Given the description of an element on the screen output the (x, y) to click on. 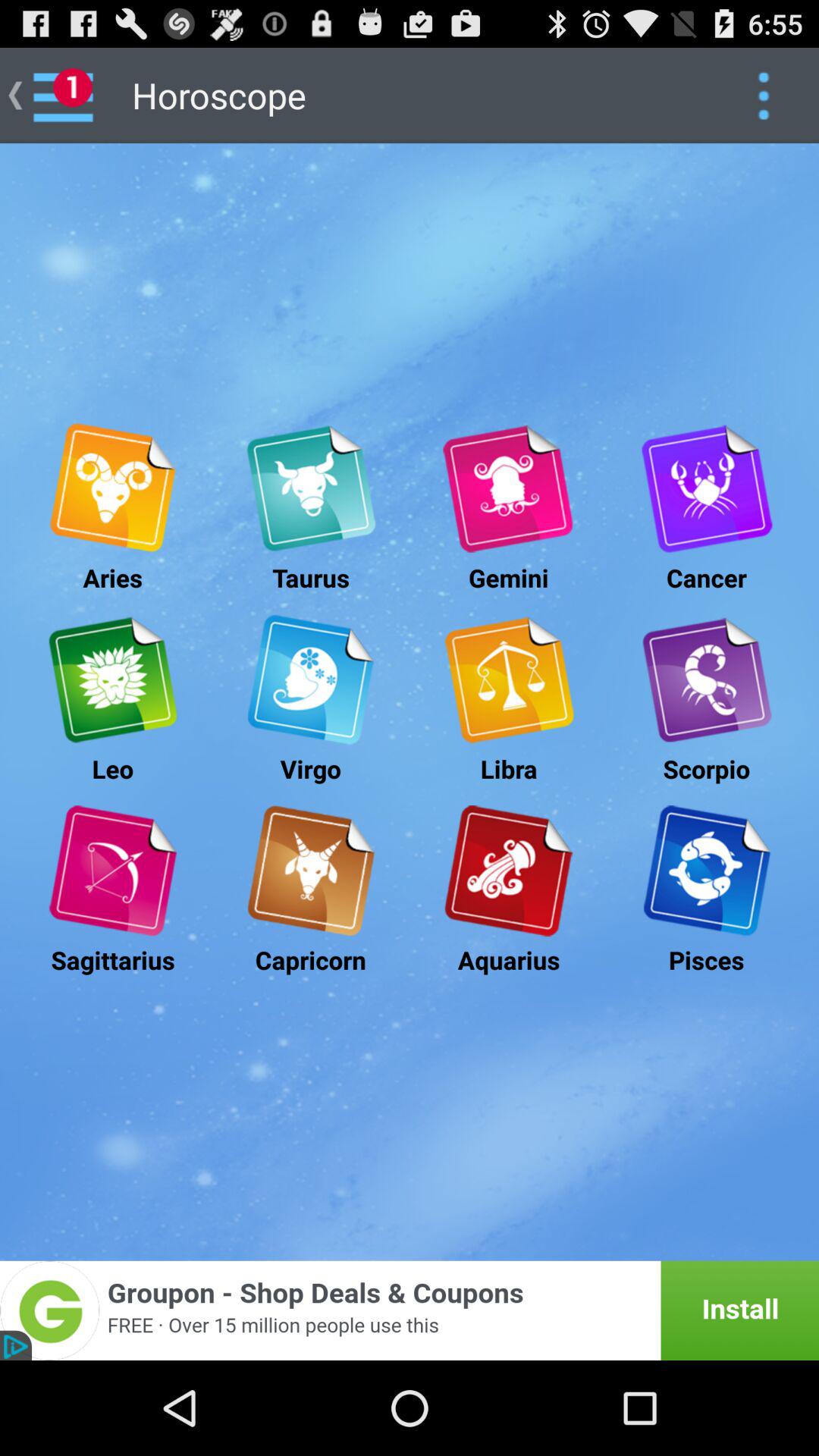
zodaic (508, 679)
